Given the description of an element on the screen output the (x, y) to click on. 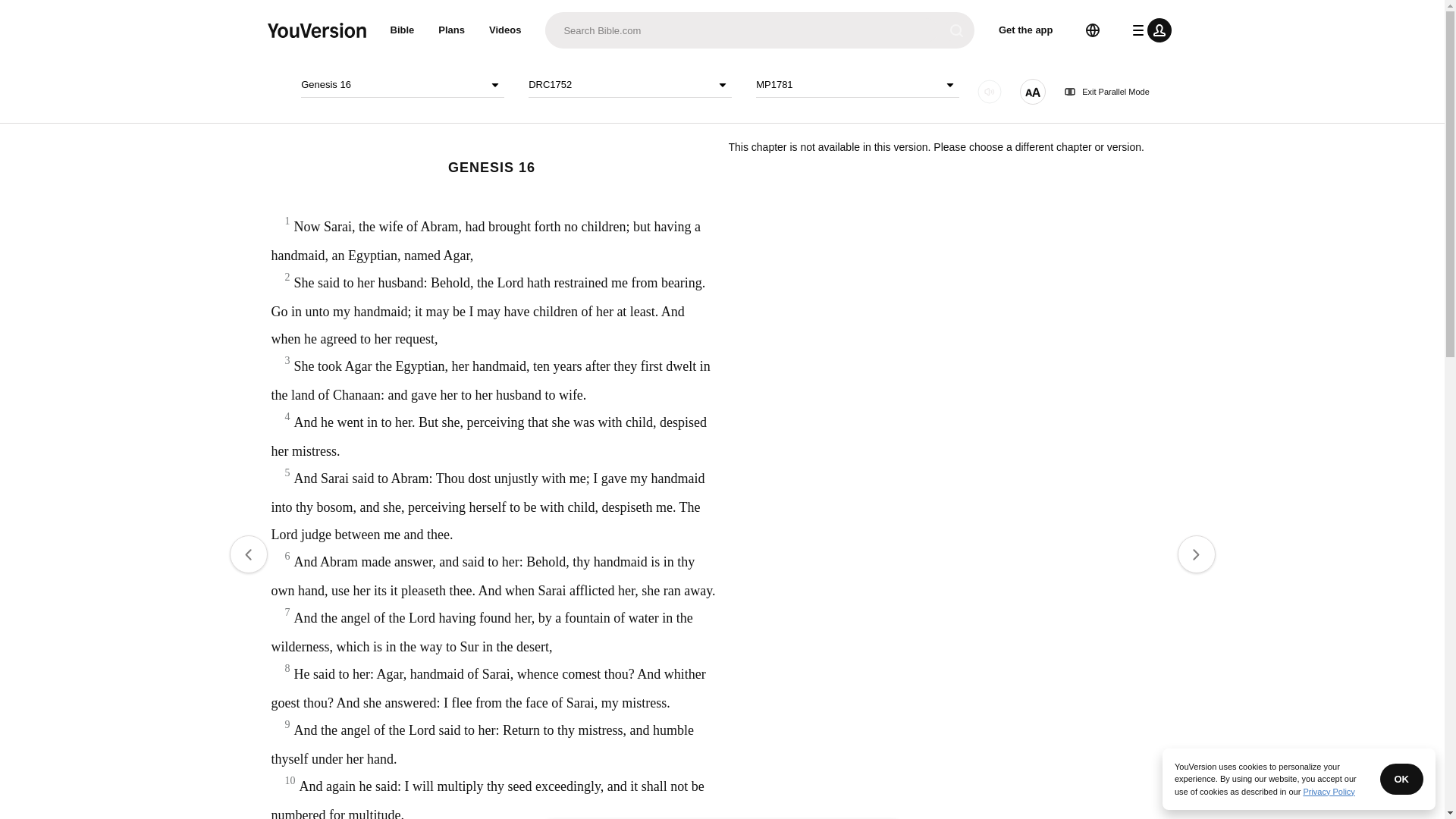
Privacy Policy (1328, 791)
Exit Parallel Mode (1107, 91)
DRC1752 (630, 84)
Plans (451, 29)
Bible (401, 29)
OK (1401, 778)
MP1781 (857, 84)
Videos (504, 29)
Genesis 16 (402, 84)
Get the app (1026, 29)
